Given the description of an element on the screen output the (x, y) to click on. 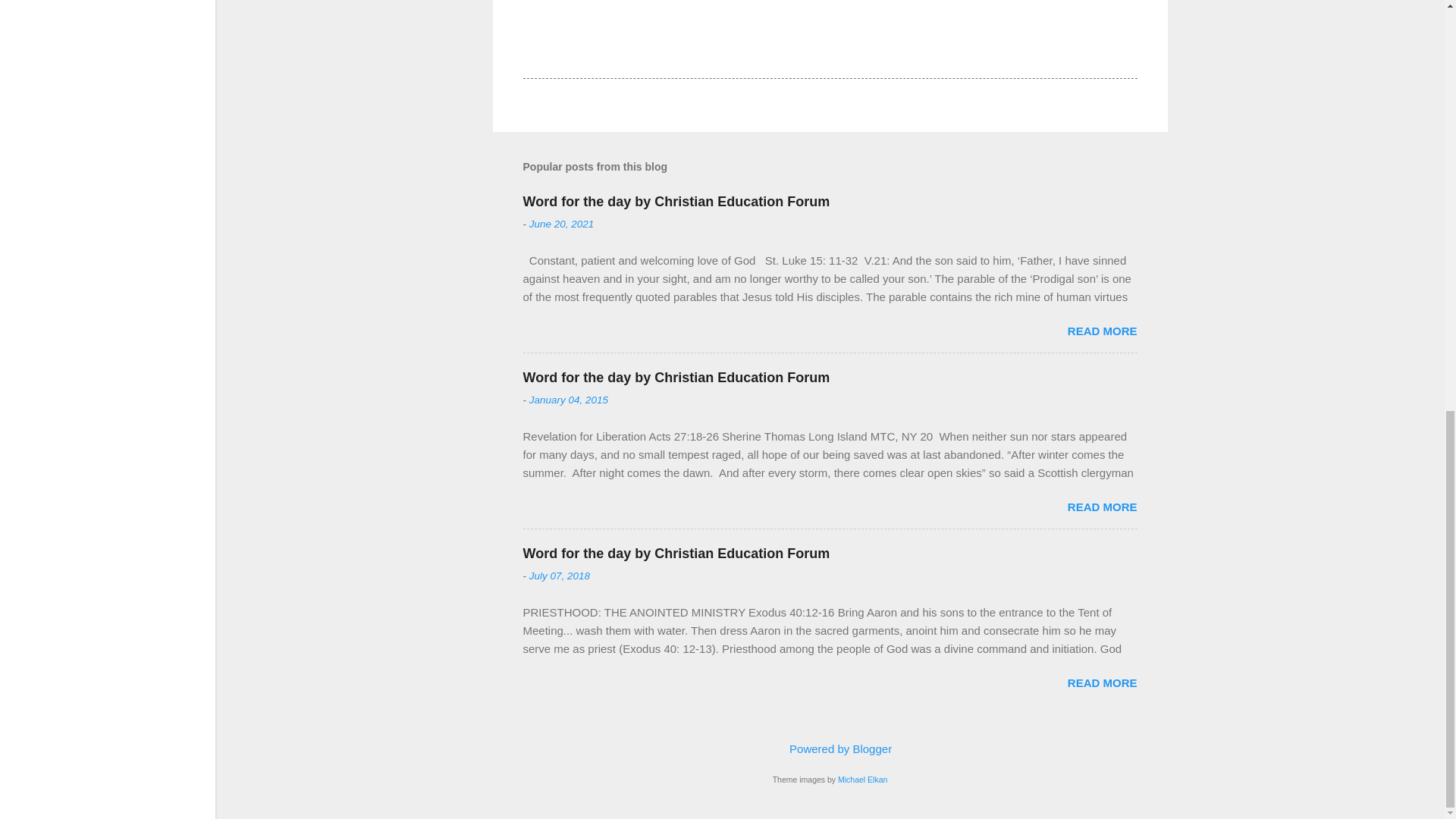
July 07, 2018 (559, 575)
January 04, 2015 (568, 399)
READ MORE (1102, 682)
Word for the day by Christian Education Forum (675, 377)
READ MORE (1102, 506)
June 20, 2021 (561, 224)
Powered by Blogger (829, 748)
Word for the day by Christian Education Forum (675, 201)
READ MORE (1102, 330)
Michael Elkan (862, 778)
